Given the description of an element on the screen output the (x, y) to click on. 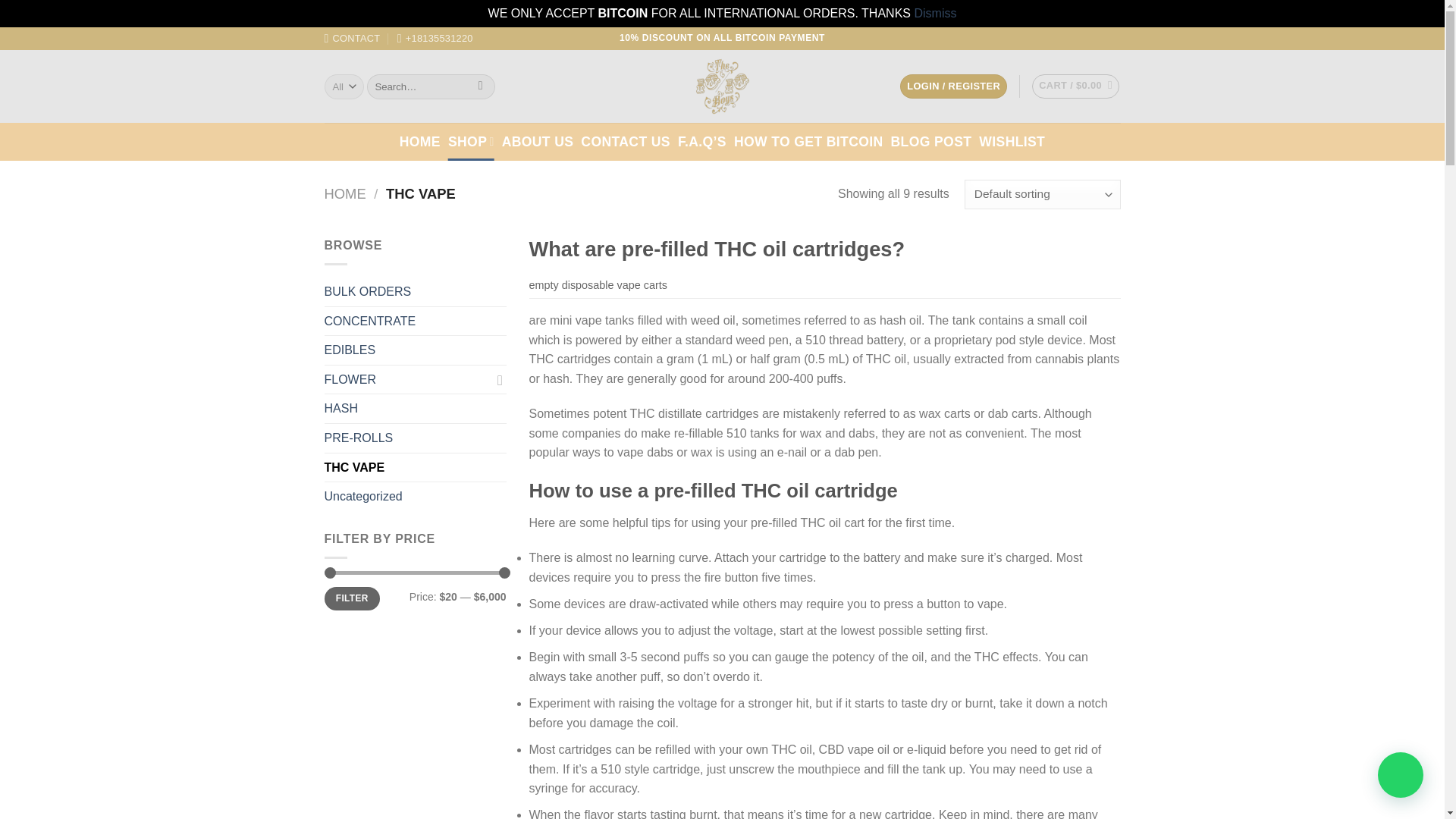
FLOWER (407, 379)
HOME (419, 141)
BULK ORDERS (415, 291)
CONTACT US (624, 141)
HOME (345, 193)
CONCENTRATE (415, 321)
HOW TO GET BITCOIN (808, 141)
WISHLIST (1011, 141)
EDIBLES (415, 349)
Dismiss (935, 12)
Cart (1075, 86)
CONTACT (352, 38)
ABOUT US (537, 141)
Search (480, 86)
BLOG POST (931, 141)
